Given the description of an element on the screen output the (x, y) to click on. 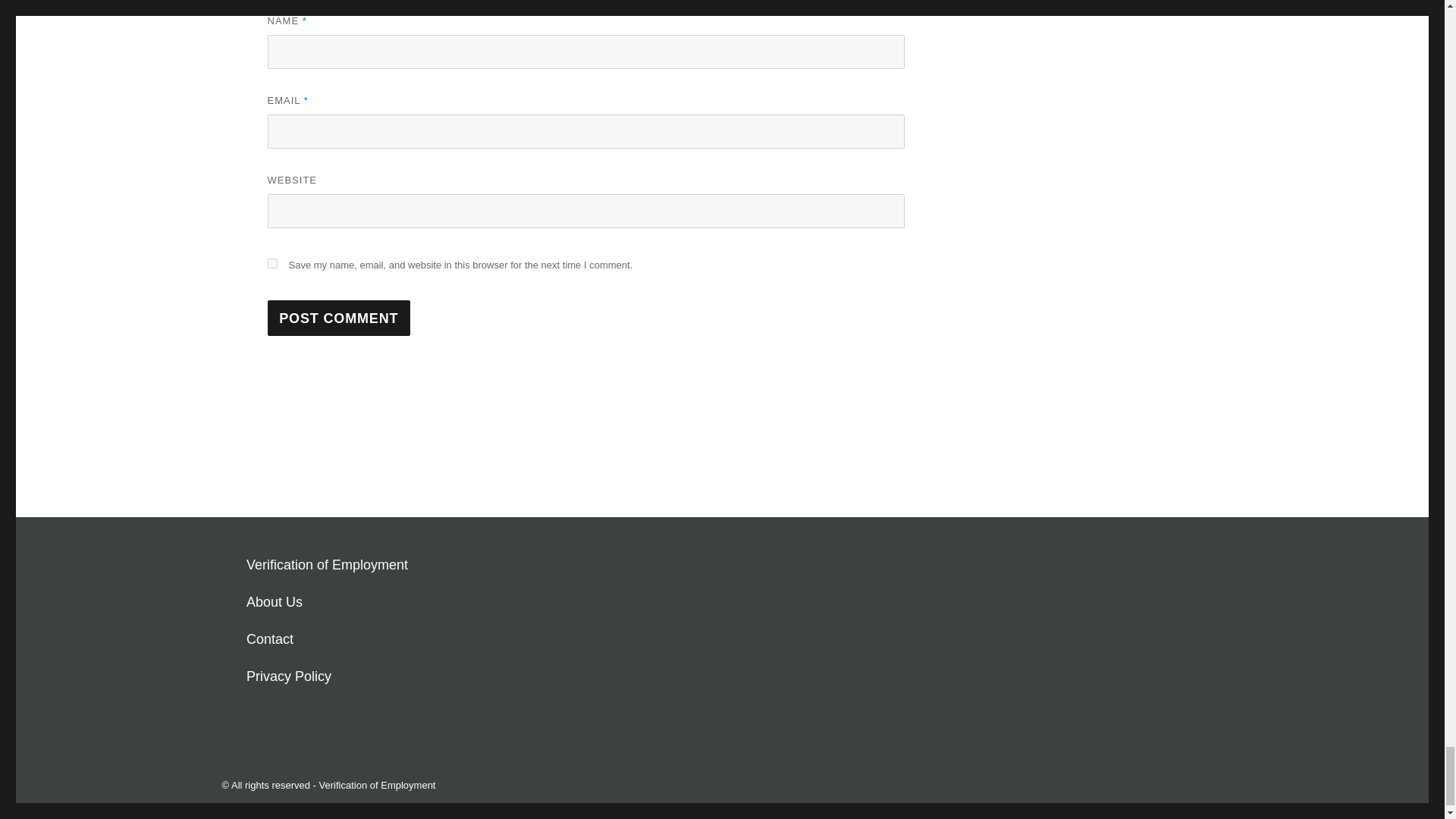
Post Comment (338, 317)
yes (271, 263)
Post Comment (338, 317)
